Given the description of an element on the screen output the (x, y) to click on. 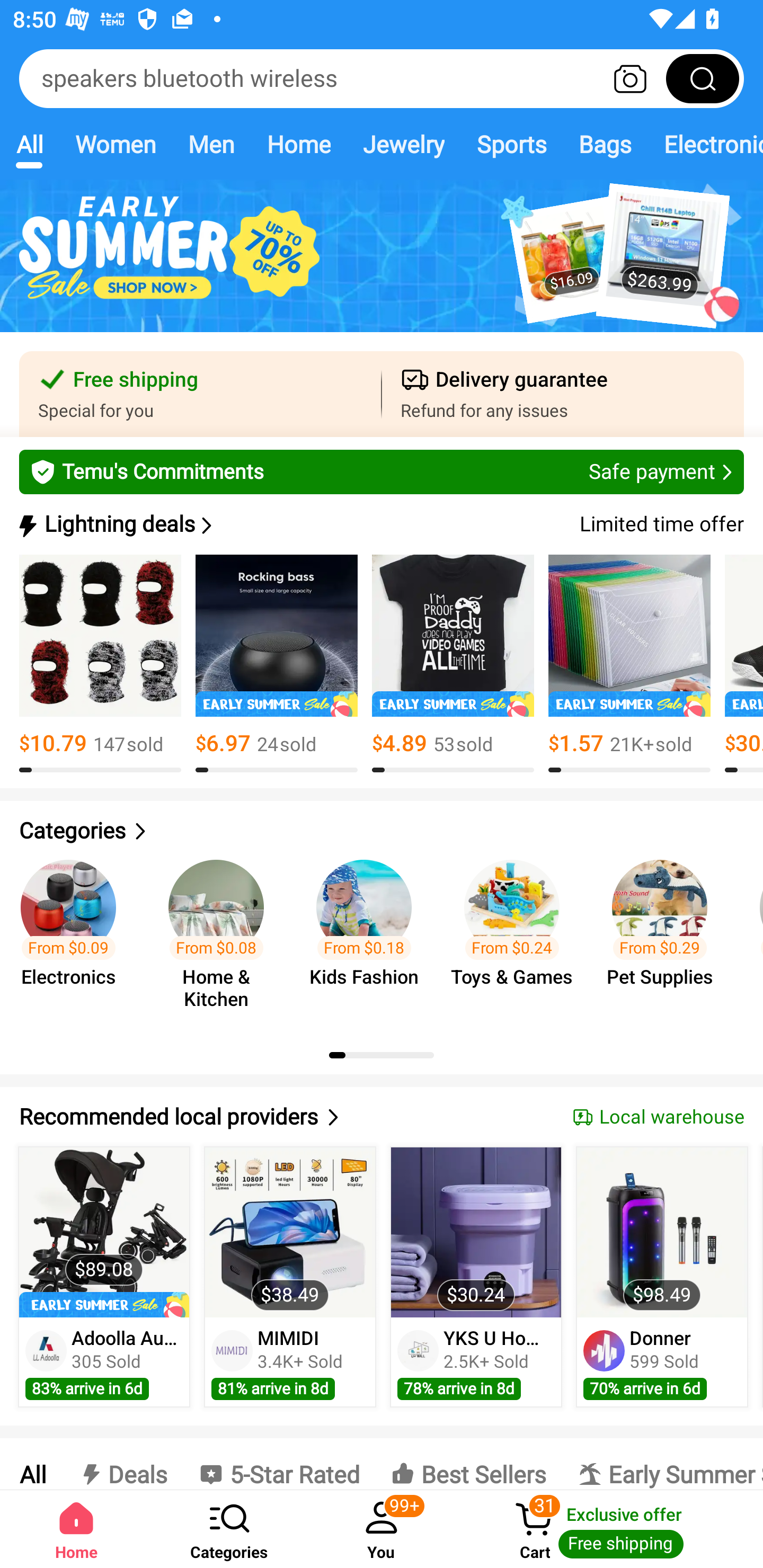
speakers bluetooth wireless (381, 78)
All (29, 144)
Women (115, 144)
Men (211, 144)
Home (298, 144)
Jewelry (403, 144)
Sports (511, 144)
Bags (605, 144)
Electronics (705, 144)
$16.09 $263.99 (381, 265)
Free shipping Special for you (200, 394)
Delivery guarantee Refund for any issues (562, 394)
Temu's Commitments (381, 471)
Lightning deals Lightning deals Limited time offer (379, 524)
$10.79 147￼sold 8.0 (100, 664)
$6.97 24￼sold 8.0 (276, 664)
$4.89 53￼sold 8.0 (453, 664)
$1.57 21K+￼sold 8.0 (629, 664)
Categories (381, 830)
From $0.09 Electronics (74, 936)
From $0.08 Home & Kitchen (222, 936)
From $0.18 Kids Fashion (369, 936)
From $0.24 Toys & Games (517, 936)
From $0.29 Pet Supplies (665, 936)
$38.49 MIMIDI 3.4K+ Sold 81% arrive in 8d (289, 1276)
$30.24 YKS U Home Mall 2.5K+ Sold 78% arrive in 8d (475, 1276)
$98.49 Donner 599 Sold 70% arrive in 6d (661, 1276)
$89.08 (104, 1232)
$38.49 (290, 1232)
$30.24 (475, 1232)
$98.49 (661, 1232)
All (32, 1463)
Deals Deals Deals (122, 1463)
5-Star Rated 5-Star Rated 5-Star Rated (279, 1463)
Best Sellers Best Sellers Best Sellers (468, 1463)
Home (76, 1528)
Categories (228, 1528)
You ‎99+‎ You (381, 1528)
Cart 31 Cart Exclusive offer (610, 1528)
